Given the description of an element on the screen output the (x, y) to click on. 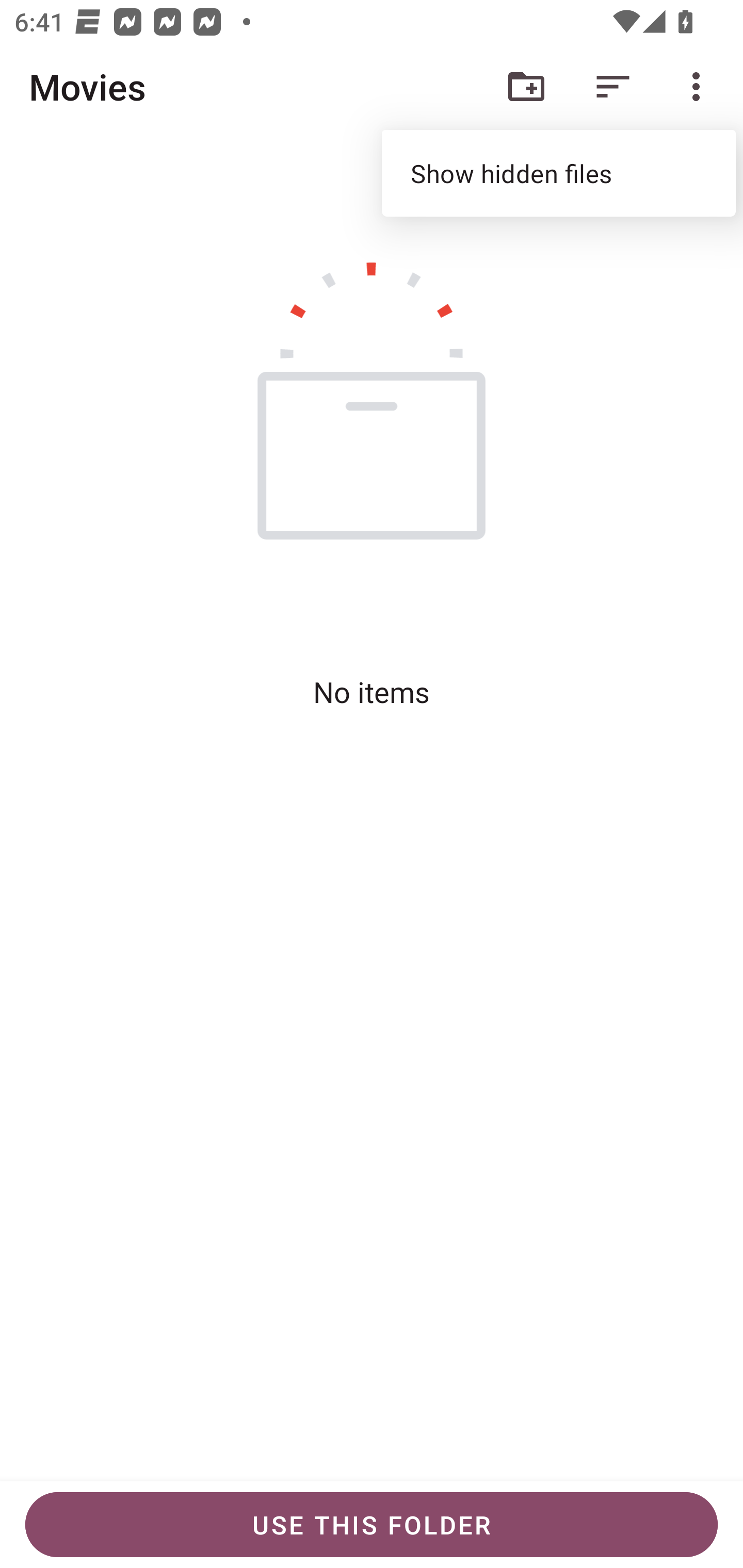
Show hidden files (558, 173)
